Given the description of an element on the screen output the (x, y) to click on. 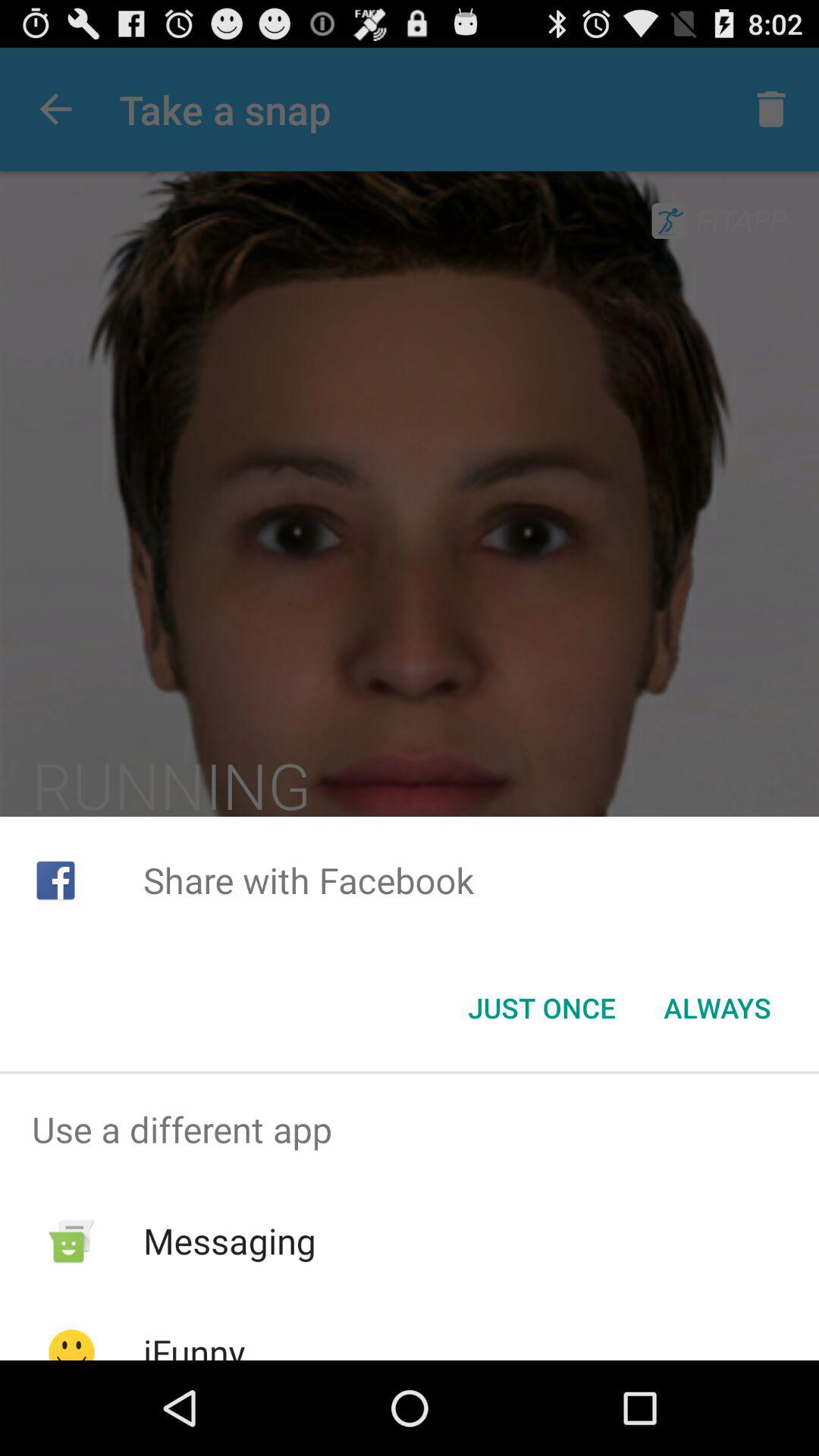
open button next to always item (541, 1007)
